Given the description of an element on the screen output the (x, y) to click on. 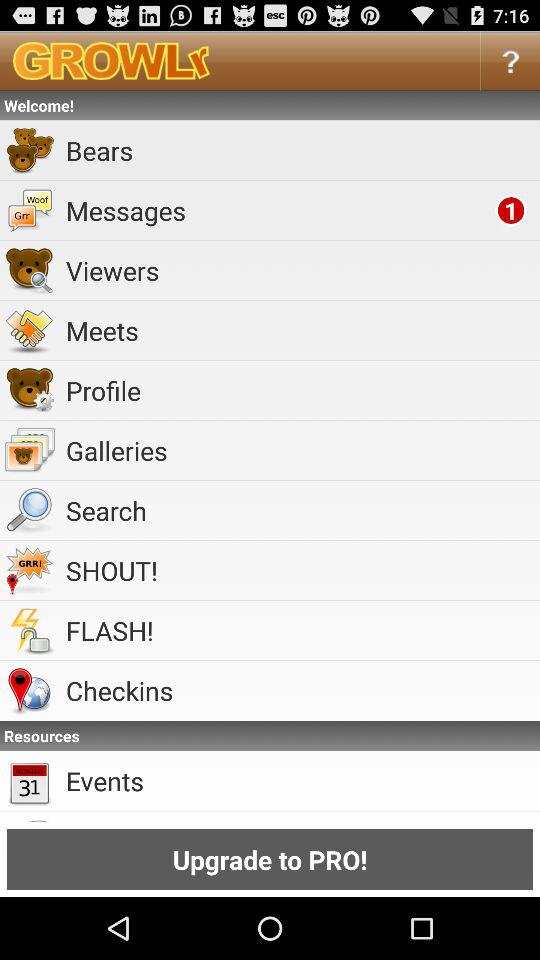
flip to the flash! item (299, 630)
